Given the description of an element on the screen output the (x, y) to click on. 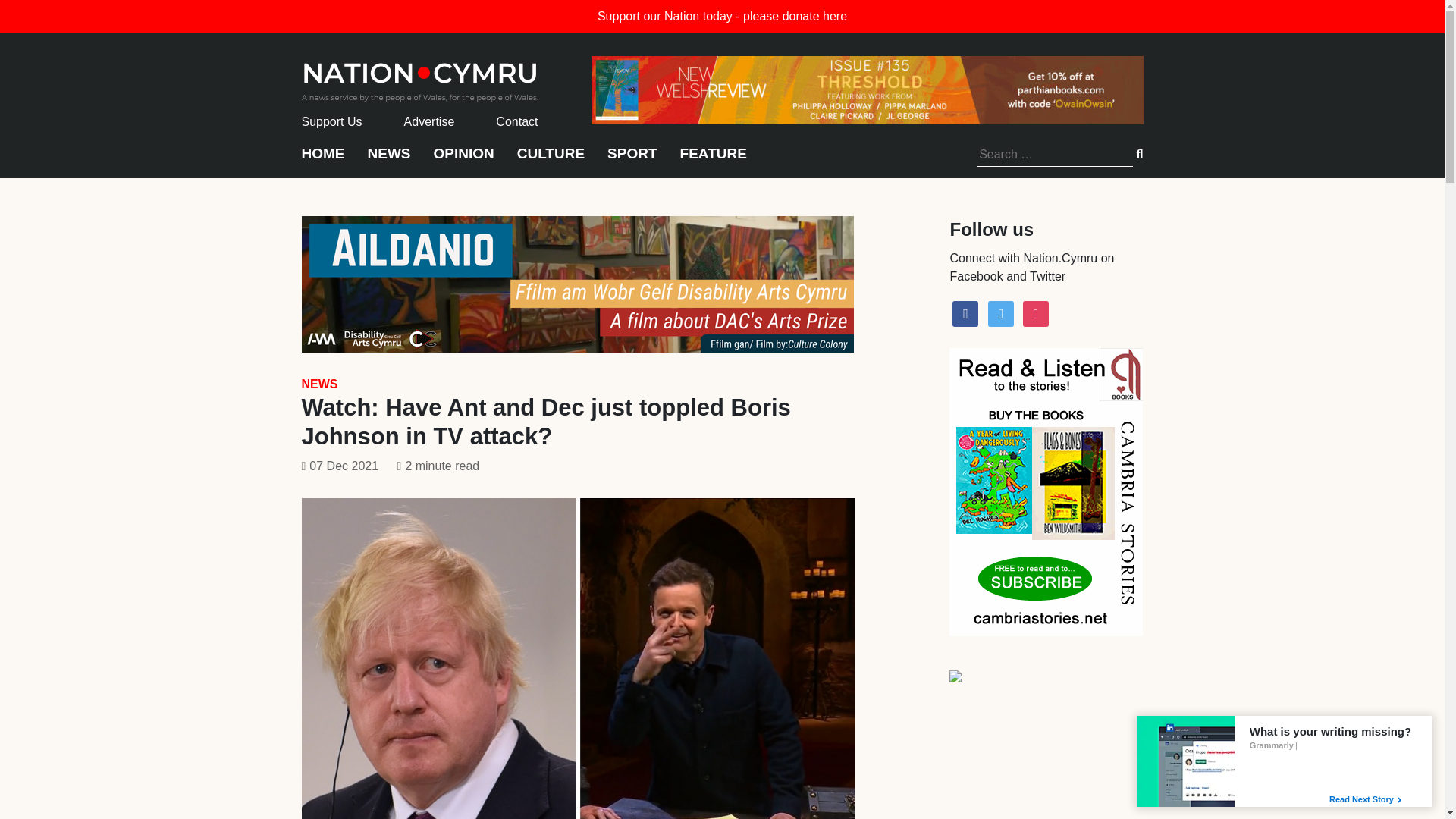
NEWS (319, 383)
Support Us (331, 121)
SPORT (631, 160)
HOME (323, 160)
OPINION (464, 160)
NEWS (388, 160)
Contact (516, 121)
Advertise (429, 121)
CULTURE (550, 160)
FEATURE (712, 160)
home (419, 77)
